Given the description of an element on the screen output the (x, y) to click on. 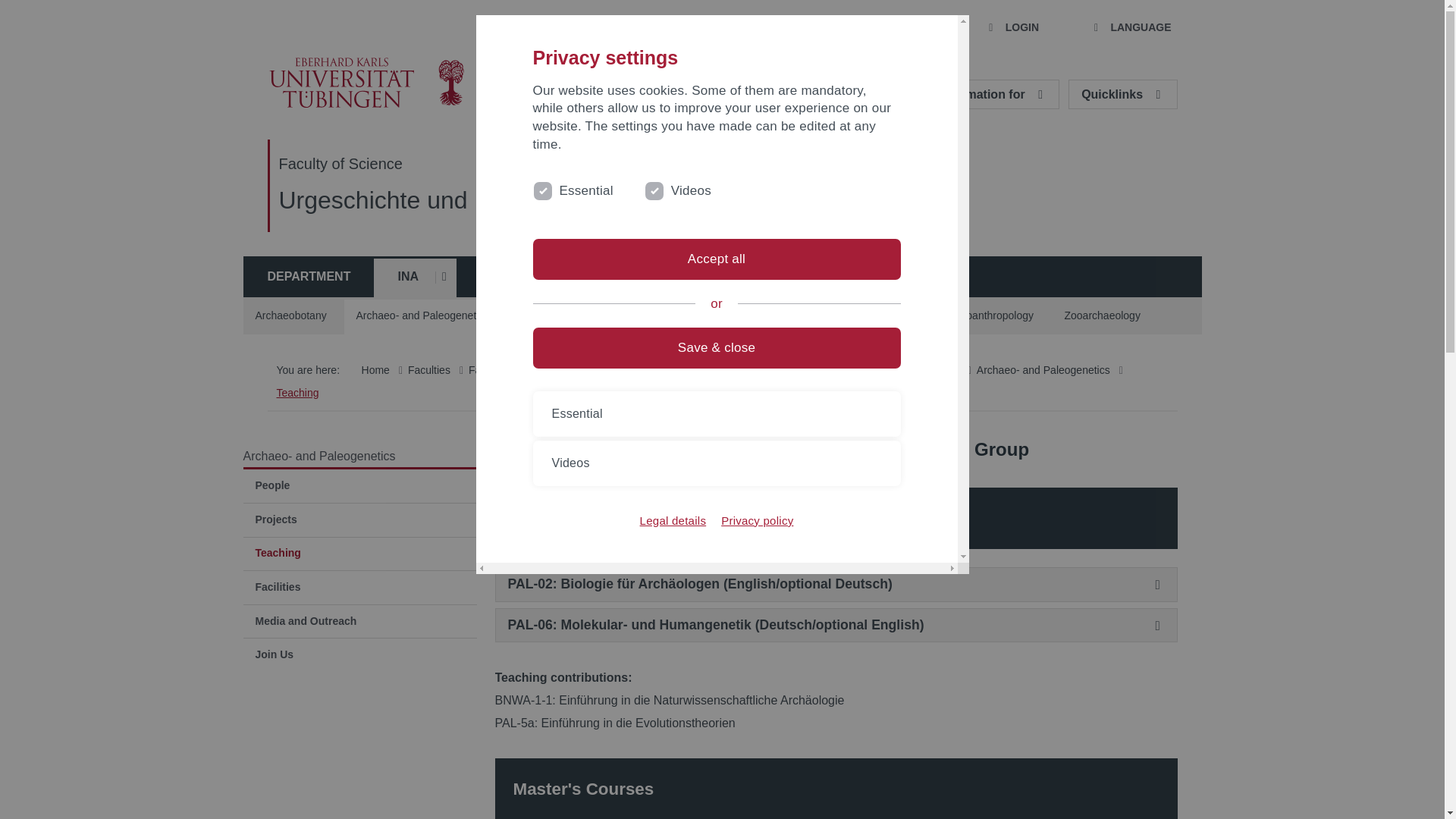
Uni A-Z (676, 28)
INA (398, 276)
UNI A-Z (676, 28)
Login (1011, 28)
Faculty of Science (341, 163)
essential (539, 188)
DEPARTMENT (307, 276)
external (652, 188)
SEARCH (901, 28)
LOGIN (1011, 28)
